Given the description of an element on the screen output the (x, y) to click on. 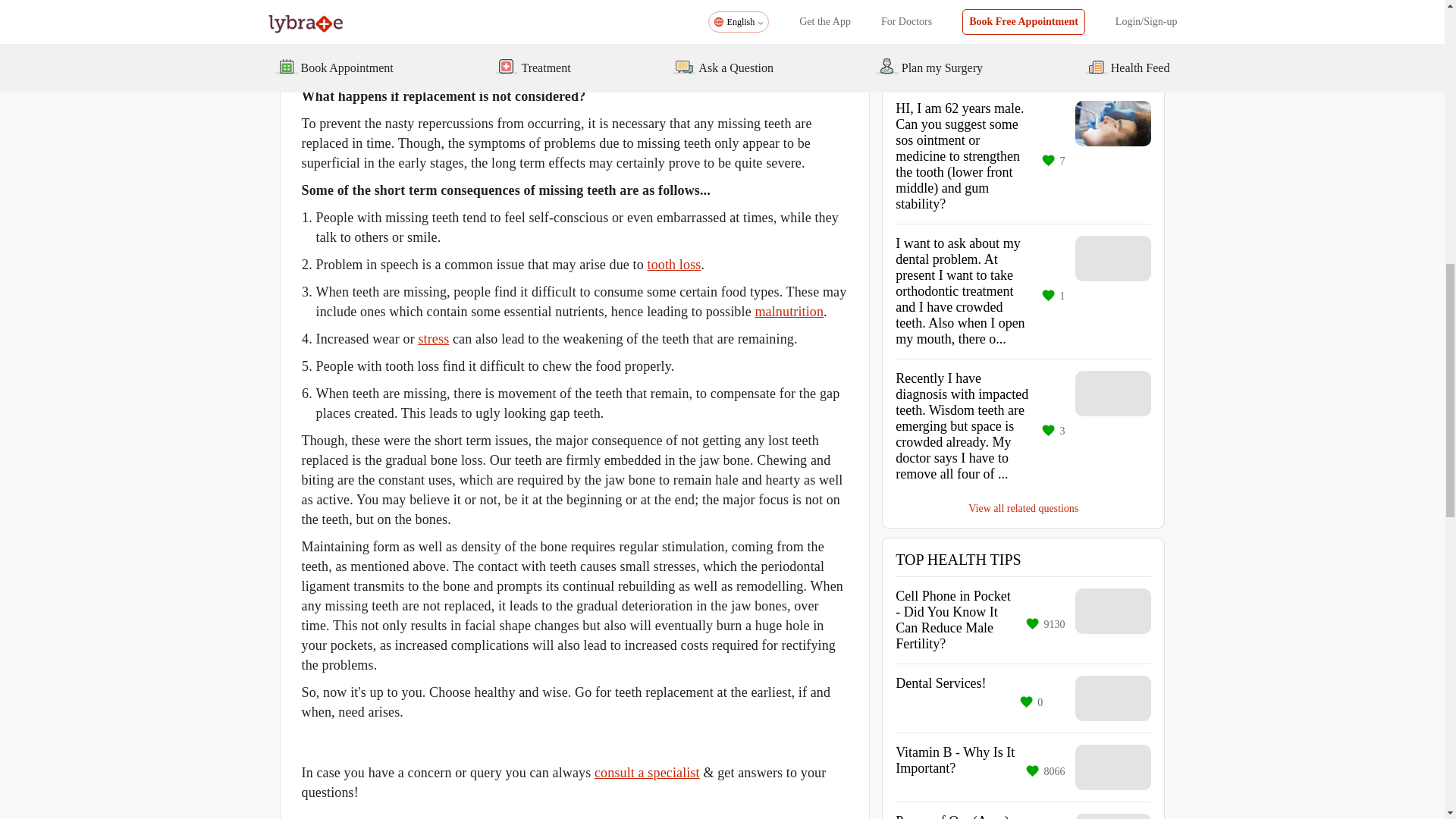
tooth loss (674, 264)
missing teeth (636, 21)
consult a specialist (647, 772)
dental implants (344, 41)
stress (432, 338)
Dental Services! (940, 698)
Vitamin B - Why Is It Important? (954, 767)
